Given the description of an element on the screen output the (x, y) to click on. 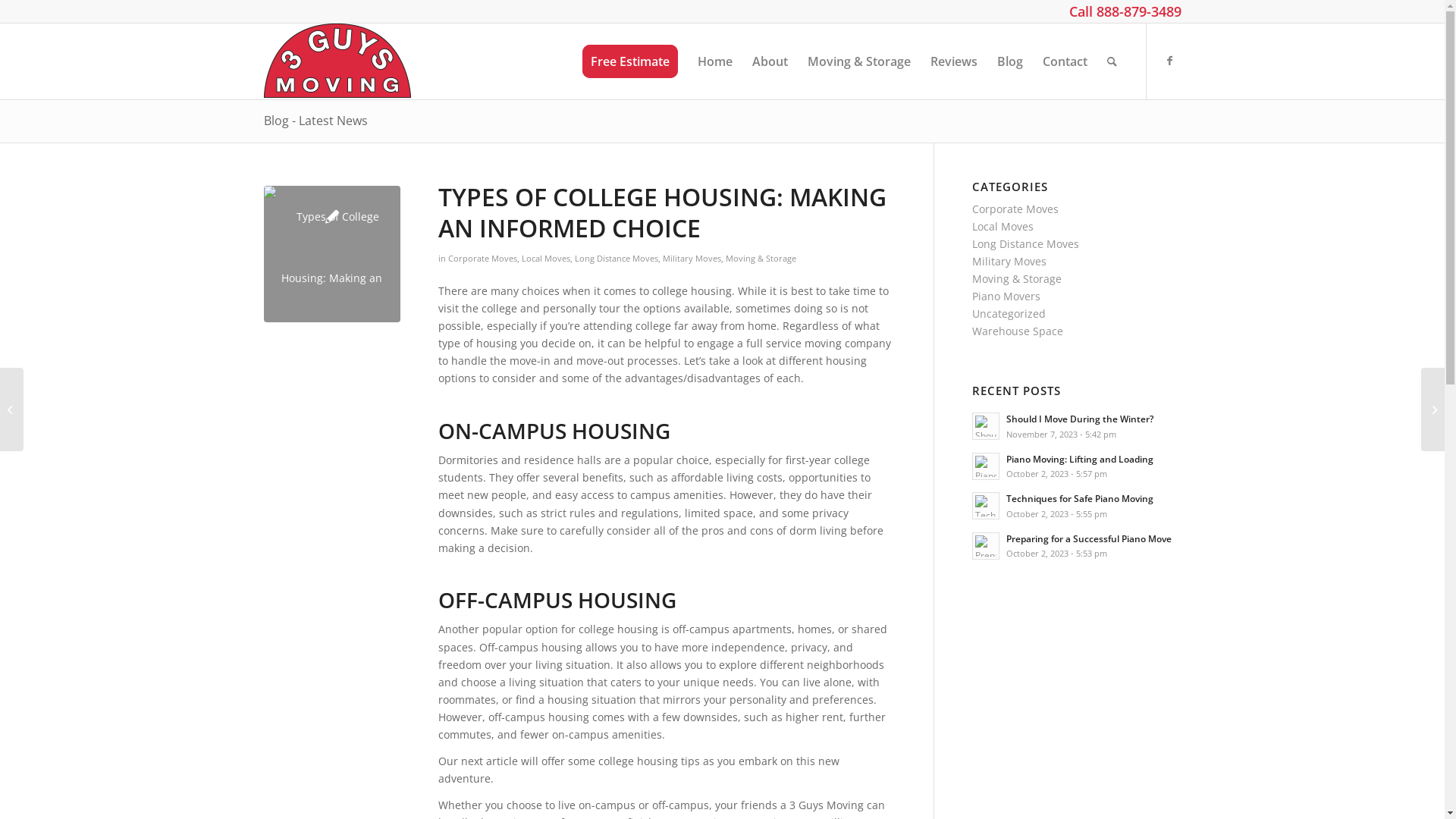
Home Element type: text (714, 61)
Military Moves Element type: text (691, 257)
Local Moves Element type: text (1002, 226)
Uncategorized Element type: text (1008, 313)
Read: Should I Move During the Winter? Element type: hover (985, 425)
Preparing for a Successful Piano Move 5 Element type: hover (985, 545)
Blog - Latest News Element type: text (315, 120)
Blog Element type: text (1009, 61)
About Element type: text (769, 61)
Piano Moving: Lifting and Loading 3 Element type: hover (985, 465)
Facebook Element type: hover (1169, 60)
Read: Preparing for a Successful Piano Move Element type: hover (985, 545)
Contact Element type: text (1064, 61)
Types of College Housing: Making an Informed Choice Element type: hover (331, 253)
Moving & Storage Element type: text (858, 61)
Reviews Element type: text (953, 61)
Piano Moving: Lifting and Loading Element type: text (1079, 458)
Military Moves Element type: text (1009, 261)
Preparing for a Successful Piano Move Element type: text (1088, 538)
Techniques for Safe Piano Moving Element type: text (1079, 498)
Free Estimate Element type: text (629, 61)
Warehouse Space Element type: text (1017, 330)
Read: Piano Moving: Lifting and Loading Element type: hover (985, 466)
Local Moves Element type: text (545, 257)
Should I Move During the Winter? 2 Element type: hover (985, 425)
Moving & Storage Element type: text (759, 257)
Techniques for Safe Piano Moving 4 Element type: hover (985, 505)
Corporate Moves Element type: text (481, 257)
Piano Movers Element type: text (1006, 295)
Should I Move During the Winter? Element type: text (1079, 418)
Long Distance Moves Element type: text (616, 257)
Read: Techniques for Safe Piano Moving Element type: hover (985, 505)
Long Distance Moves Element type: text (1025, 243)
Corporate Moves Element type: text (1015, 208)
Moving & Storage Element type: text (1016, 278)
